Given the description of an element on the screen output the (x, y) to click on. 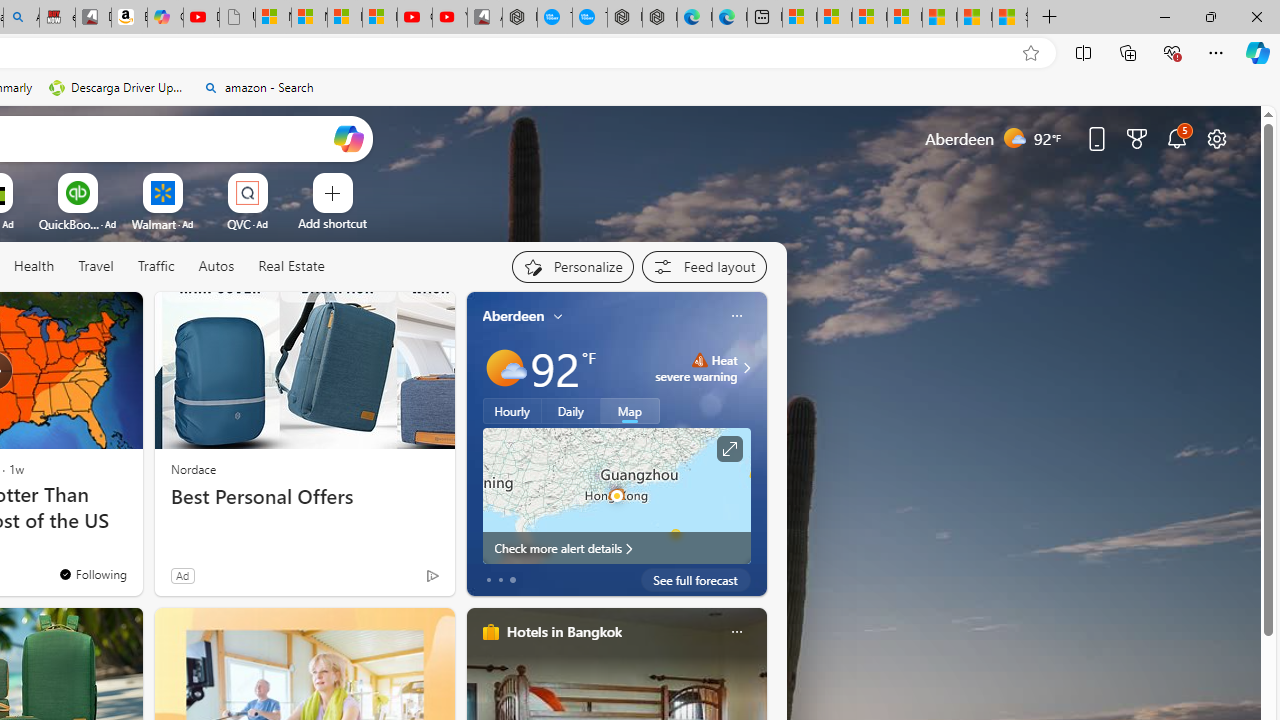
More Options (279, 179)
Real Estate (290, 267)
Open Copilot (347, 138)
Copilot (Ctrl+Shift+.) (1258, 52)
Class: icon-img (736, 632)
Open Copilot (347, 138)
Day 1: Arriving in Yemen (surreal to be here) - YouTube (201, 17)
Personalize your feed" (571, 266)
hotels-header-icon (490, 632)
The most popular Google 'how to' searches (589, 17)
Autos (216, 267)
Daily (571, 411)
